Given the description of an element on the screen output the (x, y) to click on. 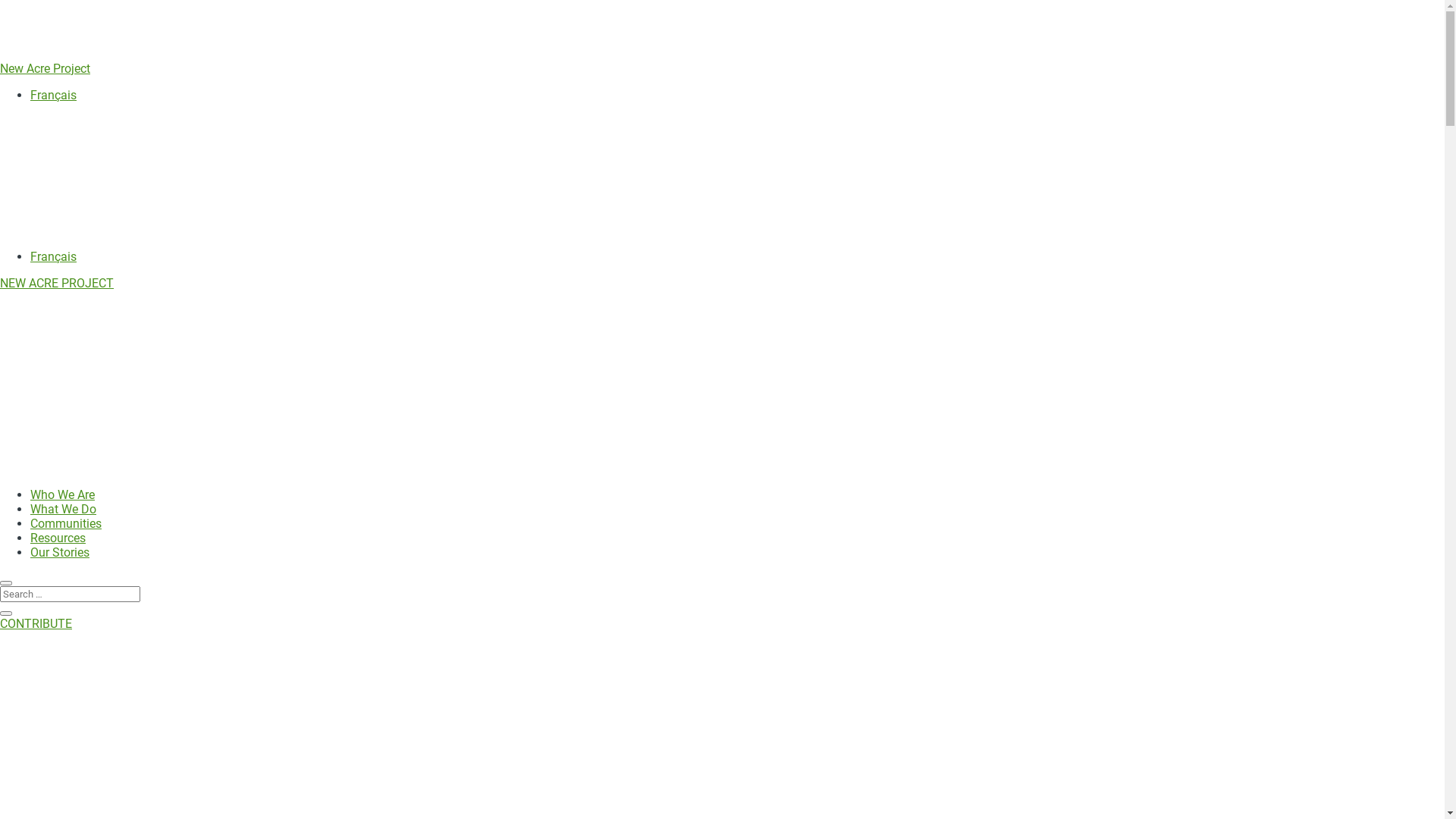
Communities Element type: text (65, 523)
Our Stories Element type: text (59, 552)
Who We Are Element type: text (62, 494)
NEW ACRE PROJECT Element type: text (56, 283)
Resources Element type: text (57, 537)
New Acre Project Element type: text (45, 68)
CONTRIBUTE Element type: text (36, 623)
What We Do Element type: text (63, 509)
Search for: Element type: hover (70, 594)
